Given the description of an element on the screen output the (x, y) to click on. 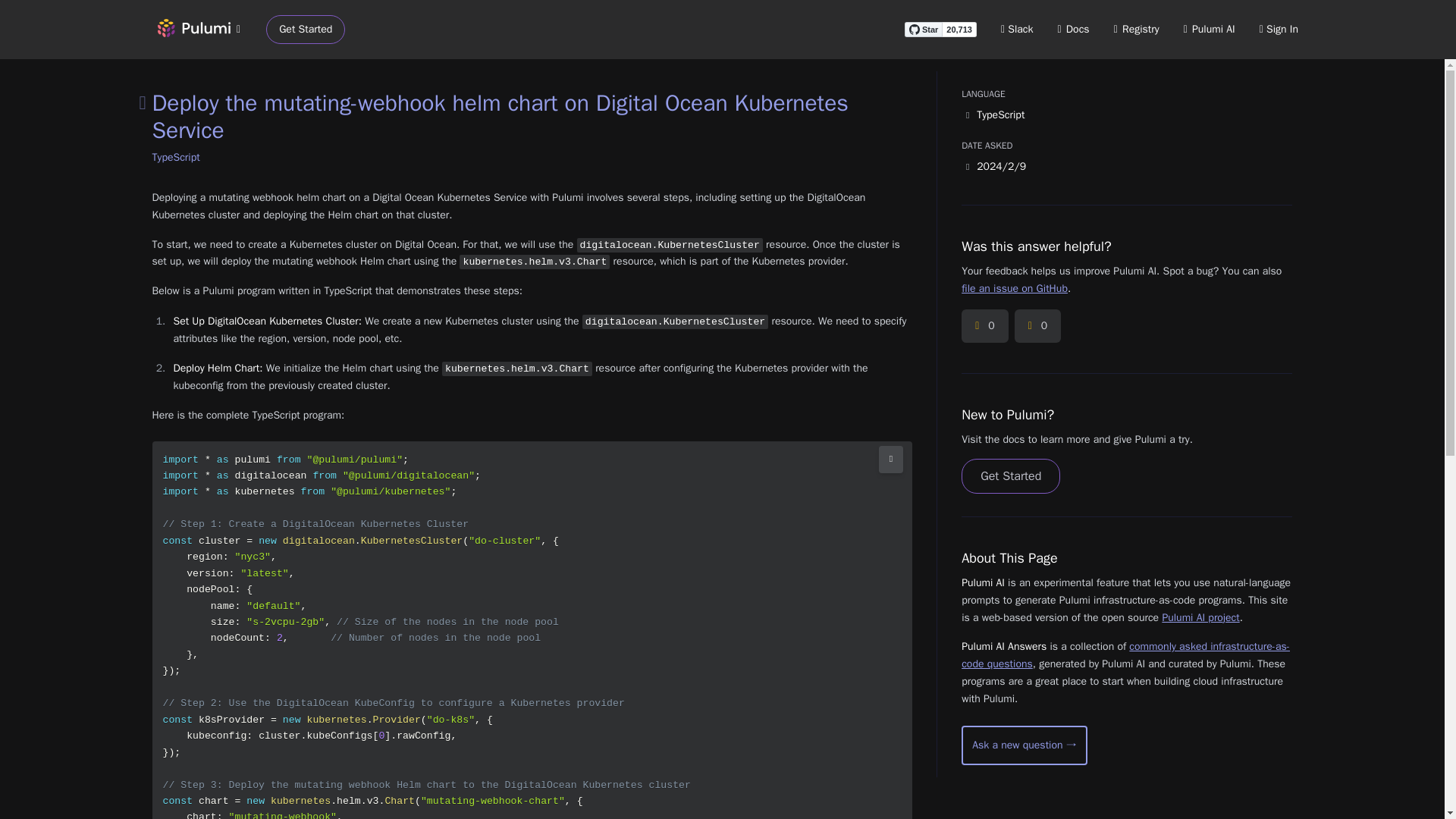
Get Started (1009, 475)
Slack (1017, 29)
0 (984, 326)
Downvote this answer (1037, 326)
Start a new conversation with Pulumi AI (1023, 744)
0 (1037, 326)
file an issue on GitHub (1013, 287)
20,713 (959, 29)
Sign In (1278, 29)
Get Started (305, 29)
